Given the description of an element on the screen output the (x, y) to click on. 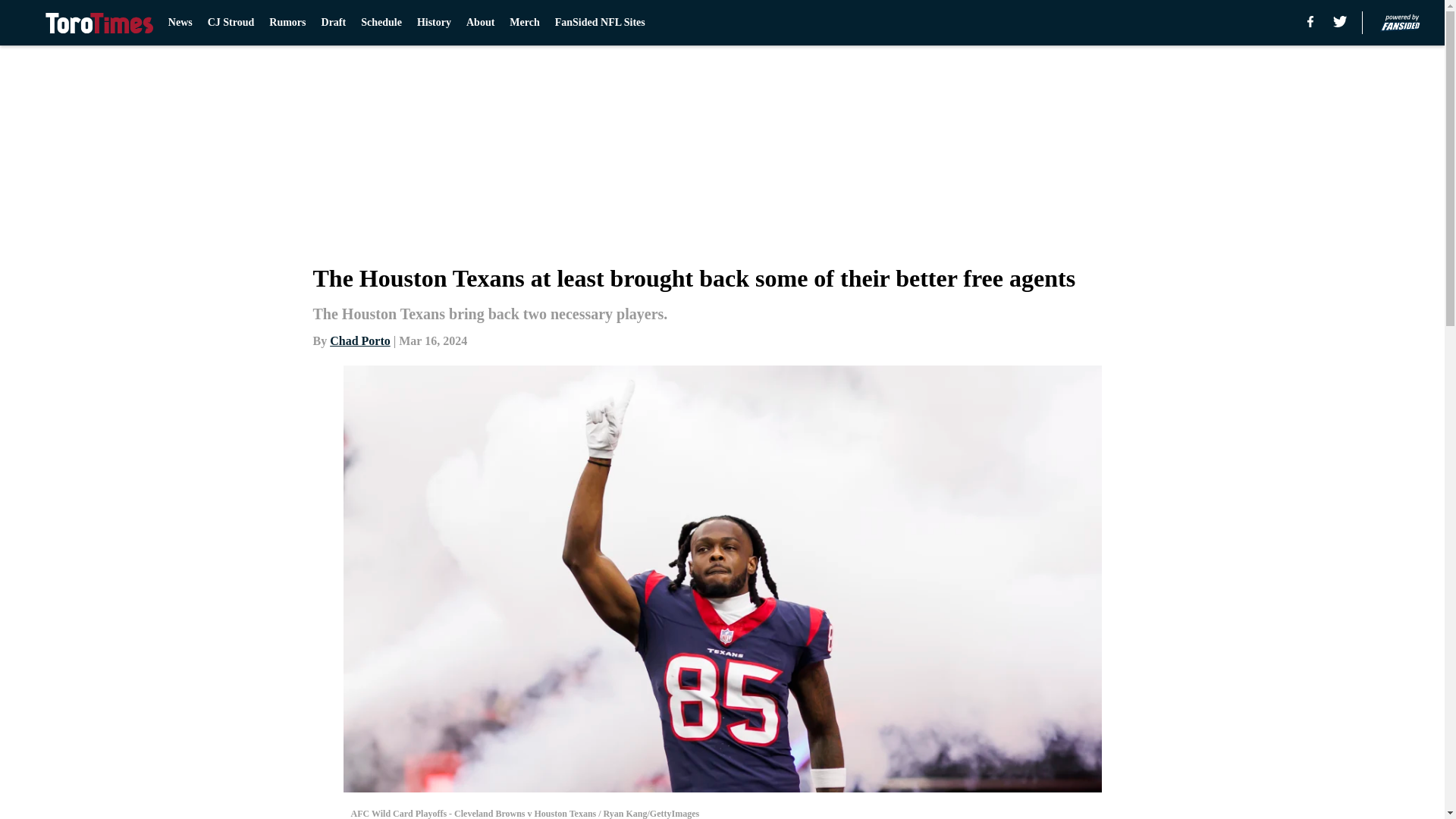
FanSided NFL Sites (599, 22)
News (180, 22)
Draft (333, 22)
Schedule (381, 22)
Chad Porto (360, 340)
Merch (523, 22)
Rumors (287, 22)
History (433, 22)
About (480, 22)
CJ Stroud (231, 22)
